Given the description of an element on the screen output the (x, y) to click on. 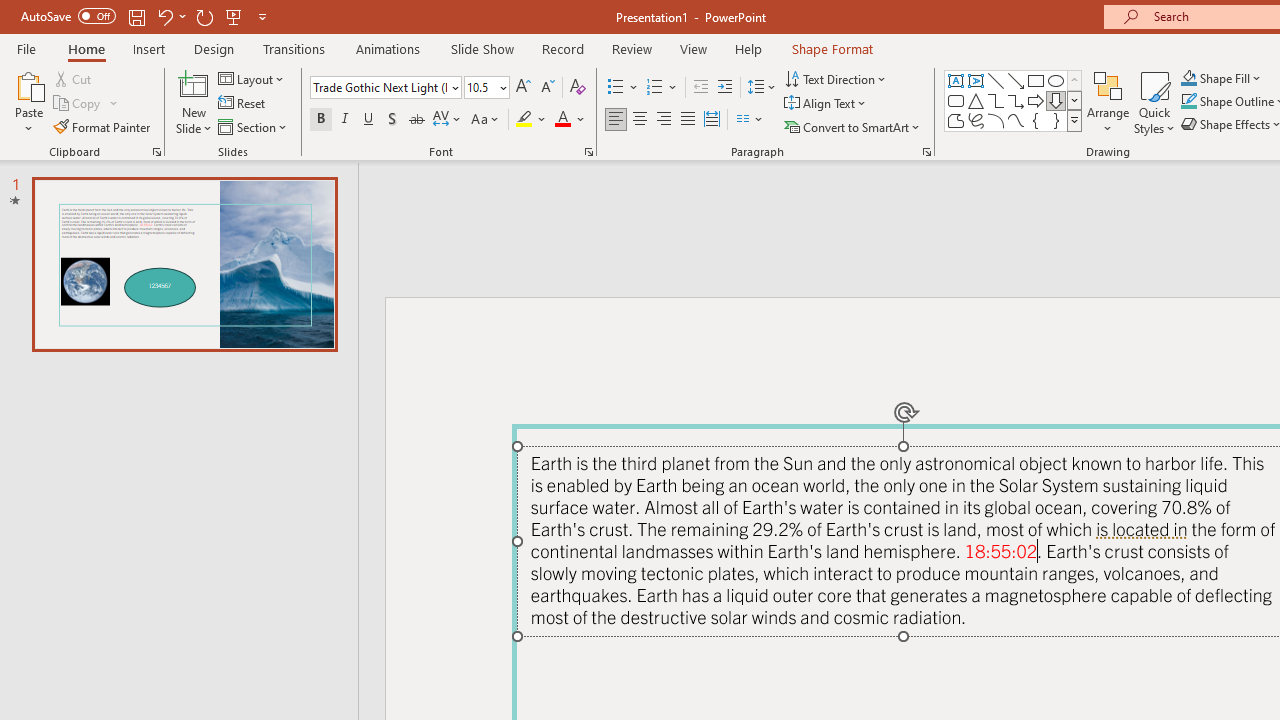
Layout (252, 78)
Row up (1074, 79)
Font Color (569, 119)
Shapes (1074, 120)
Font (379, 87)
Font Color Red (562, 119)
Distributed (712, 119)
Right Brace (1055, 120)
